Given the description of an element on the screen output the (x, y) to click on. 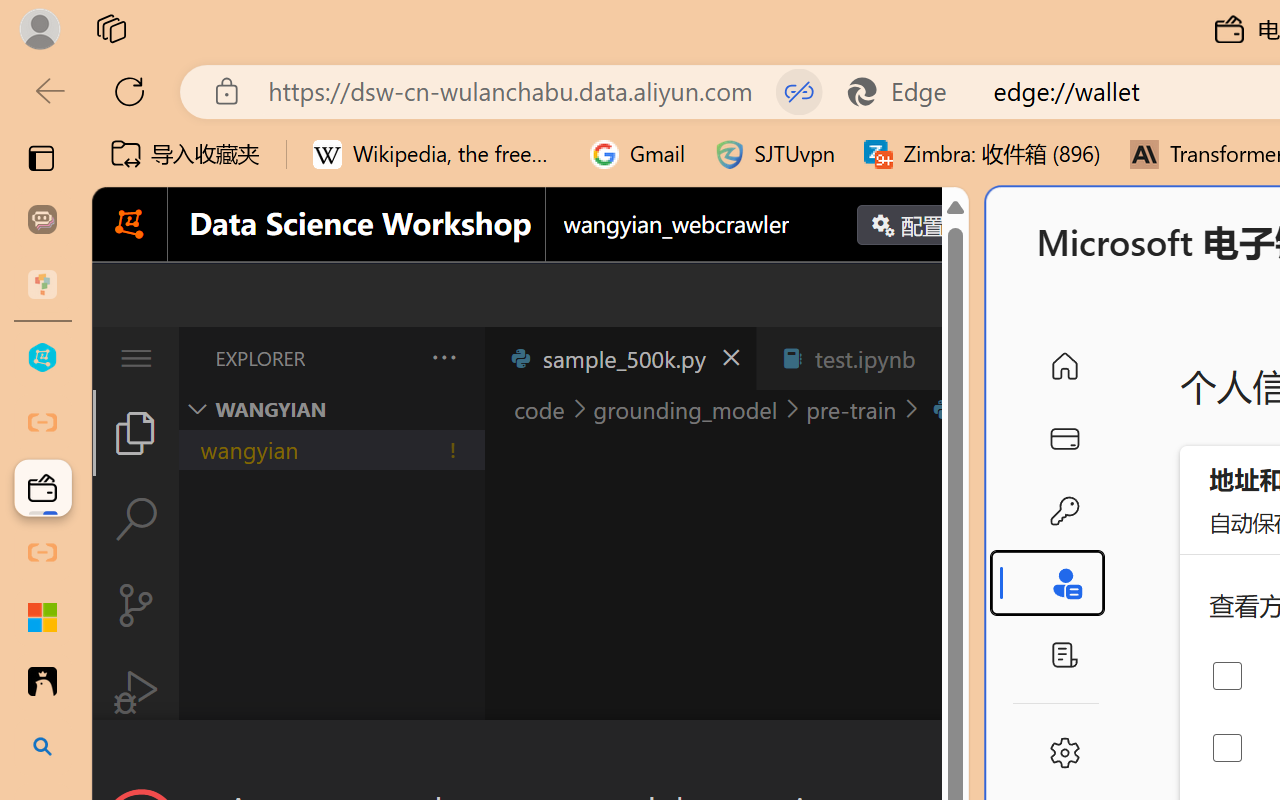
Close Dialog (959, 756)
Application Menu (135, 358)
Run and Debug (Ctrl+Shift+D) (135, 692)
Source Control (Ctrl+Shift+G) (135, 604)
Edge (905, 91)
